Given the description of an element on the screen output the (x, y) to click on. 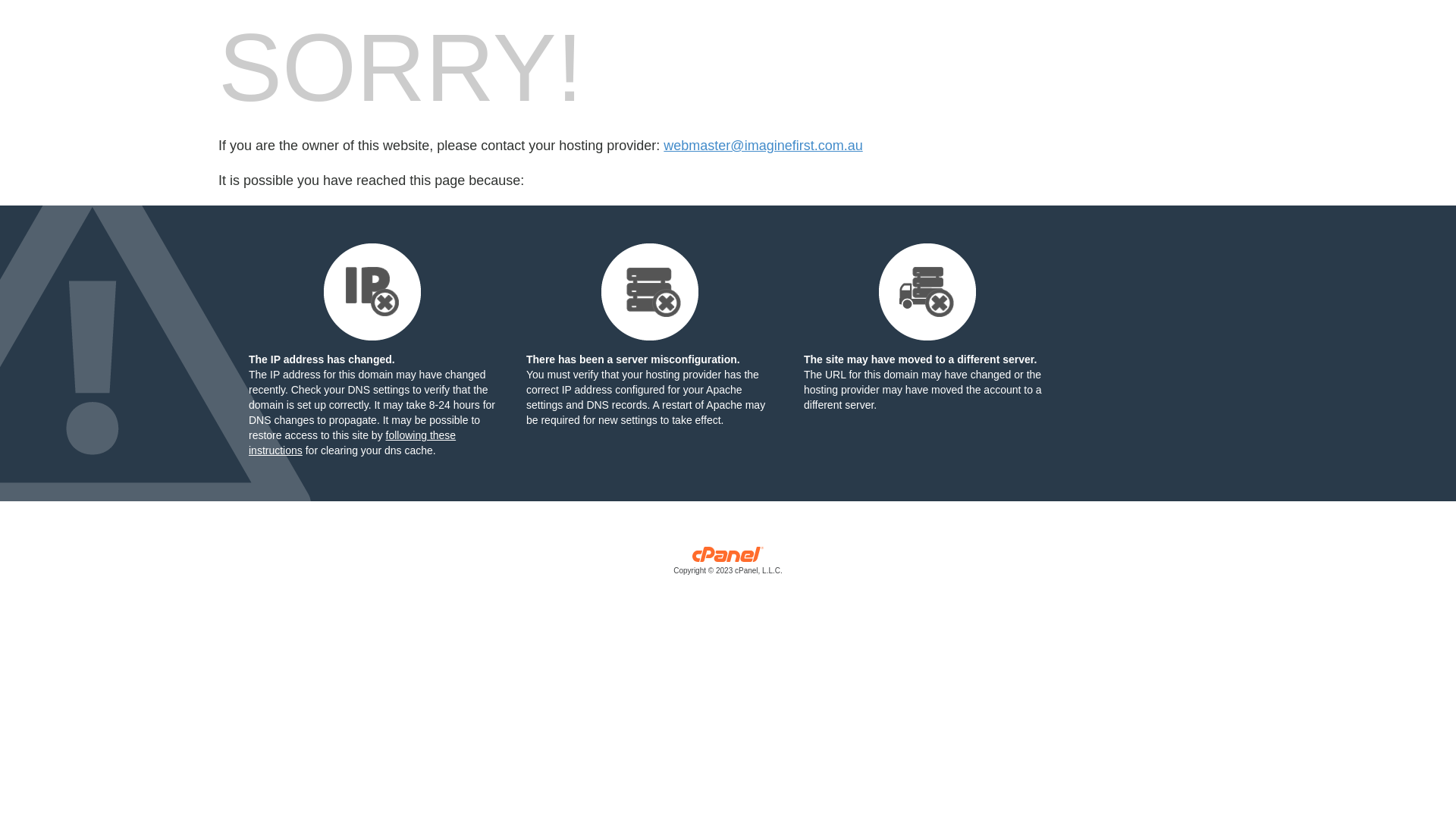
following these instructions Element type: text (351, 442)
webmaster@imaginefirst.com.au Element type: text (762, 145)
